Given the description of an element on the screen output the (x, y) to click on. 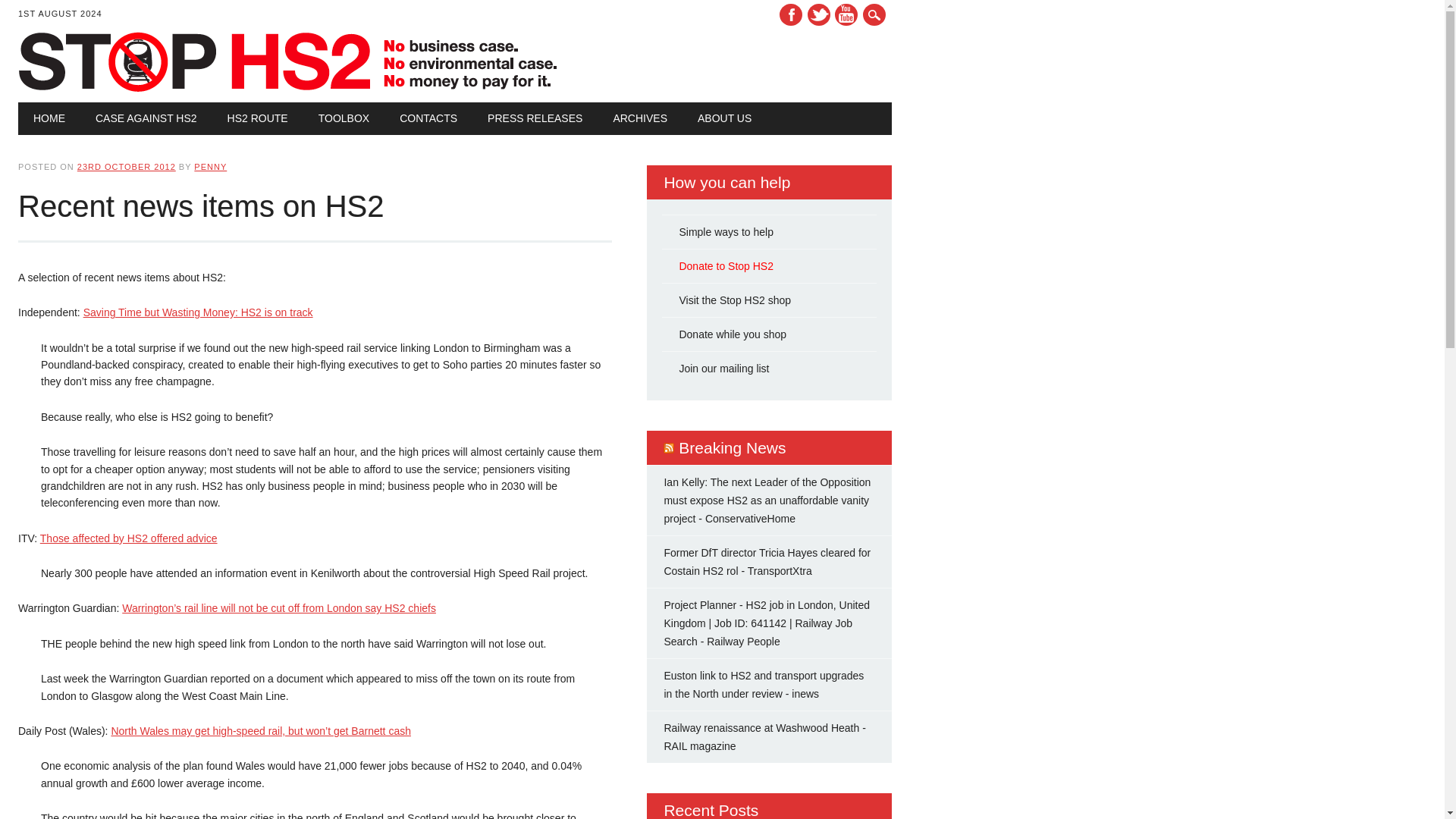
ABOUT US (724, 118)
Saving Time but Wasting Money: HS2 is on track (197, 312)
PENNY (210, 166)
HOME (48, 118)
CONTACTS (427, 118)
Those affected by HS2 offered advice (128, 538)
Youtube (845, 14)
Facebook (790, 14)
11:30 am (126, 166)
TOOLBOX (343, 118)
CASE AGAINST HS2 (146, 118)
23RD OCTOBER 2012 (126, 166)
View all posts by Penny (210, 166)
PRESS RELEASES (533, 118)
HS2 ROUTE (257, 118)
